Given the description of an element on the screen output the (x, y) to click on. 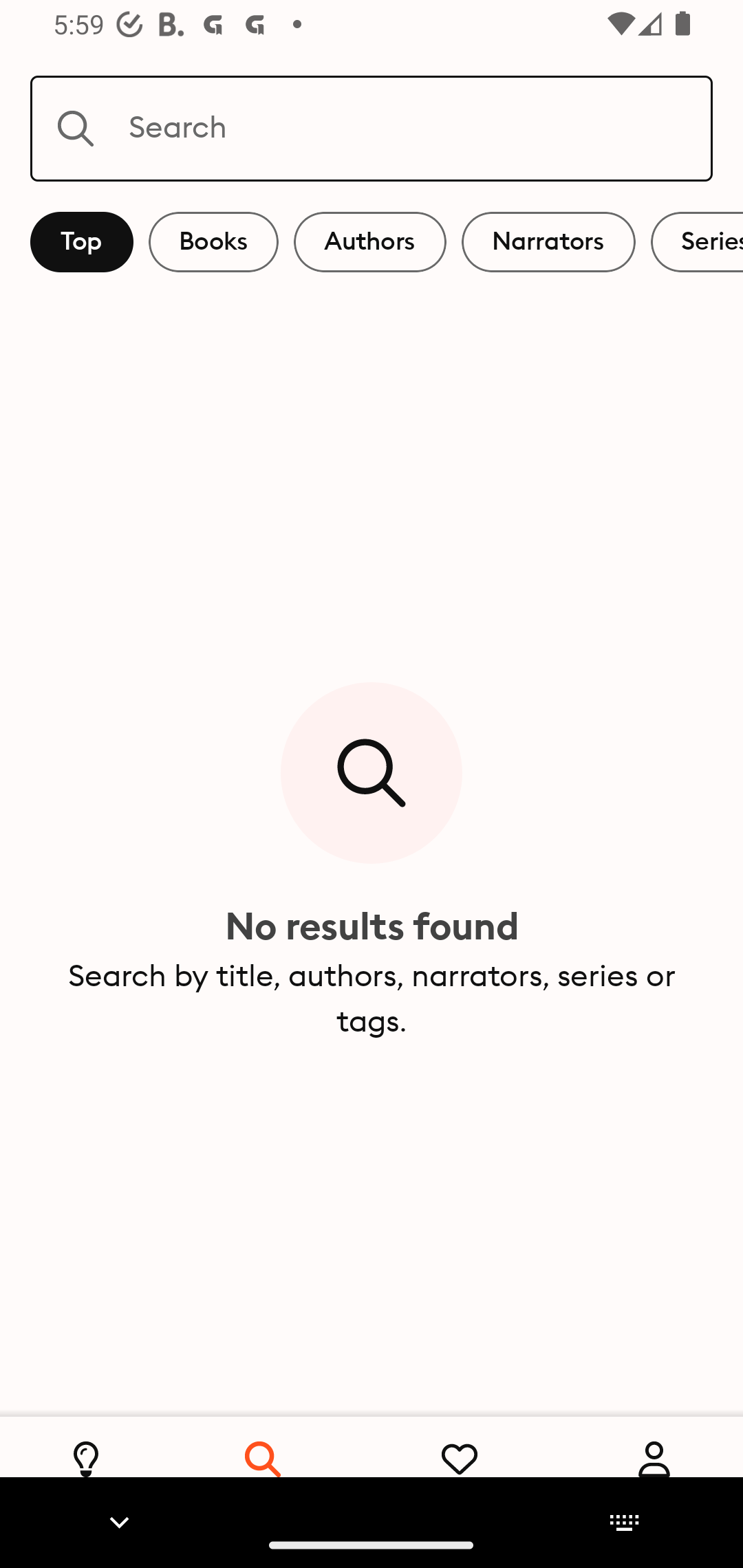
Search (371, 128)
Top (81, 241)
Books (213, 241)
Authors (369, 241)
Narrators (548, 241)
Series (696, 241)
